Given the description of an element on the screen output the (x, y) to click on. 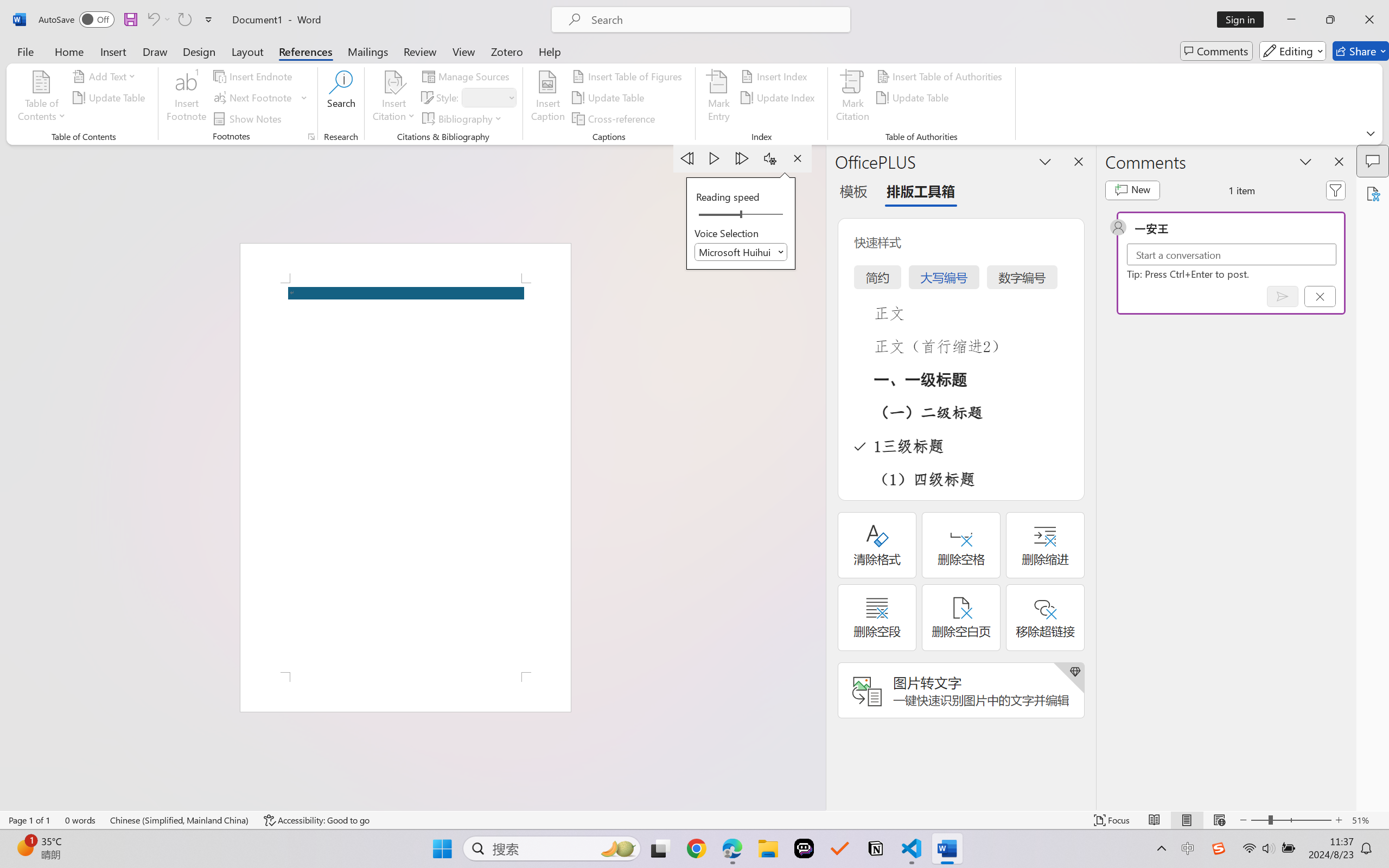
Accessibility Assistant (1373, 193)
New comment (1132, 190)
Footnote and Endnote Dialog... (311, 136)
Play (715, 158)
Update Index (778, 97)
Insert Index... (775, 75)
Style (483, 96)
Insert Table of Authorities... (941, 75)
